Given the description of an element on the screen output the (x, y) to click on. 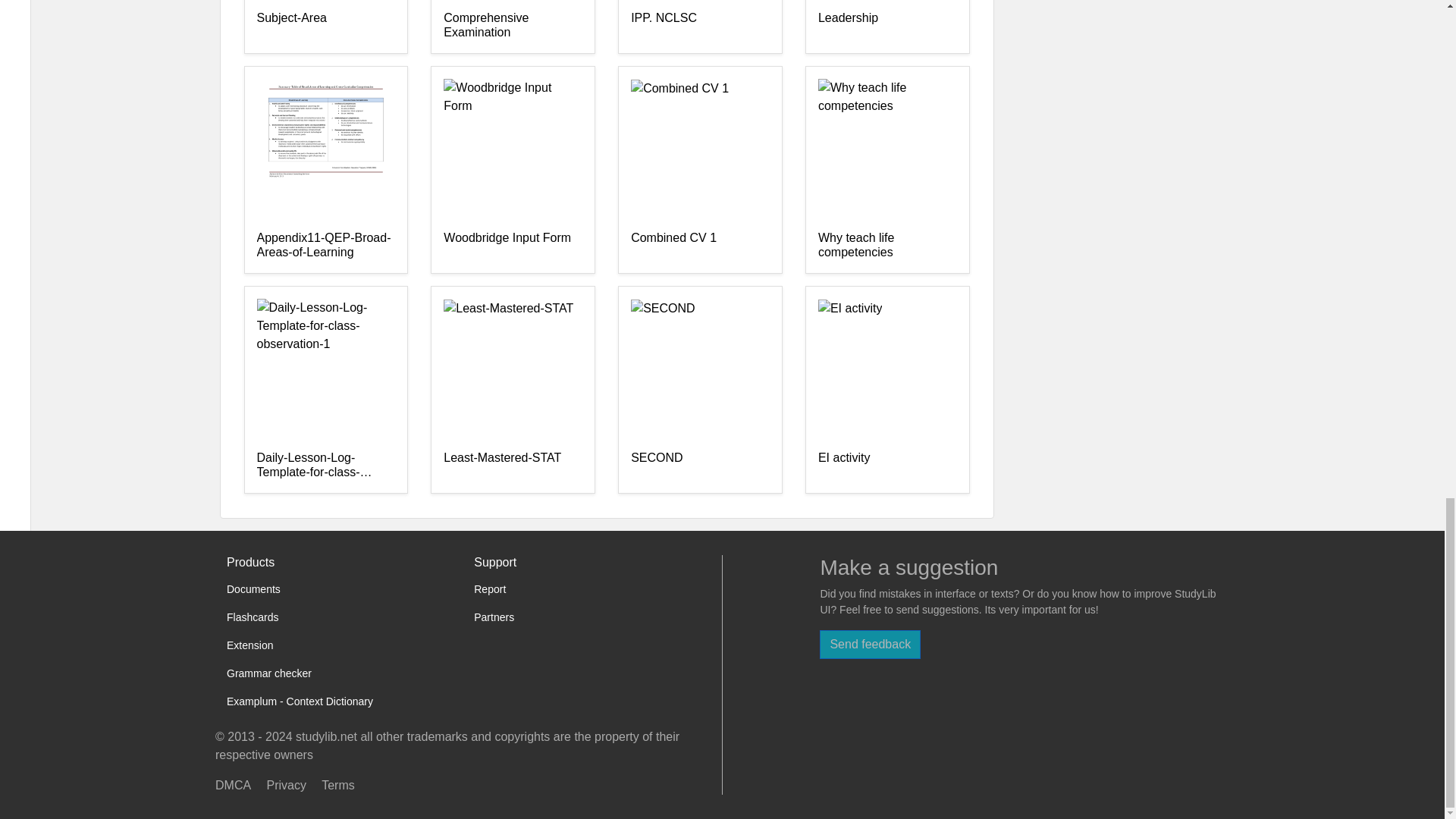
Subject-Area (325, 25)
Leadership (887, 25)
Woodbridge Input Form (513, 245)
Comprehensive Examination (513, 25)
IPP. NCLSC (700, 25)
Least-Mastered-STAT (513, 465)
Comprehensive Examination (513, 25)
Daily-Lesson-Log-Template-for-class-observation-1 (325, 465)
IPP. NCLSC (700, 25)
SECOND (700, 465)
Leadership (887, 25)
EI activity (887, 465)
Subject-Area (325, 25)
Woodbridge Input Form (513, 245)
Appendix11-QEP-Broad-Areas-of-Learning (325, 245)
